Given the description of an element on the screen output the (x, y) to click on. 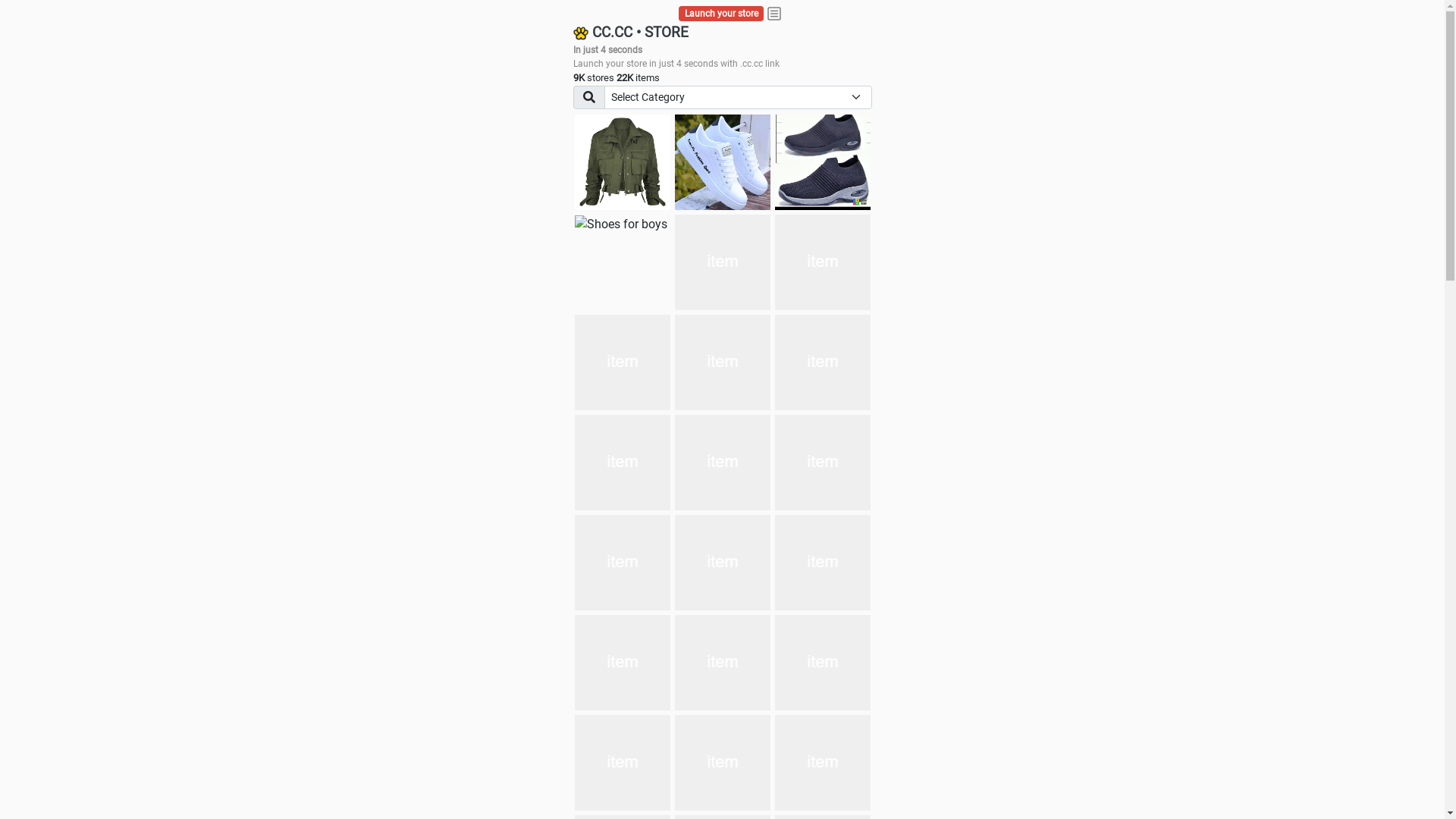
jacket Element type: hover (622, 162)
Short pant Element type: hover (822, 462)
Things we need Element type: hover (722, 262)
Pant Element type: hover (622, 762)
Shoe Element type: hover (822, 762)
Zapatillas Element type: hover (722, 462)
Pant Element type: hover (622, 662)
Dress/square nect top Element type: hover (622, 362)
Pant Element type: hover (822, 562)
Ukay cloth Element type: hover (822, 262)
Pant Element type: hover (722, 662)
white shoes Element type: hover (722, 162)
Pant Element type: hover (722, 562)
Pant Element type: hover (822, 662)
Shoes Element type: hover (722, 362)
Pant Element type: hover (622, 562)
Shoes for boys Element type: hover (620, 224)
Zapatillas pumas Element type: hover (622, 462)
shoes for boys Element type: hover (822, 162)
Launch your store Element type: text (721, 13)
Pant Element type: hover (722, 762)
